Given the description of an element on the screen output the (x, y) to click on. 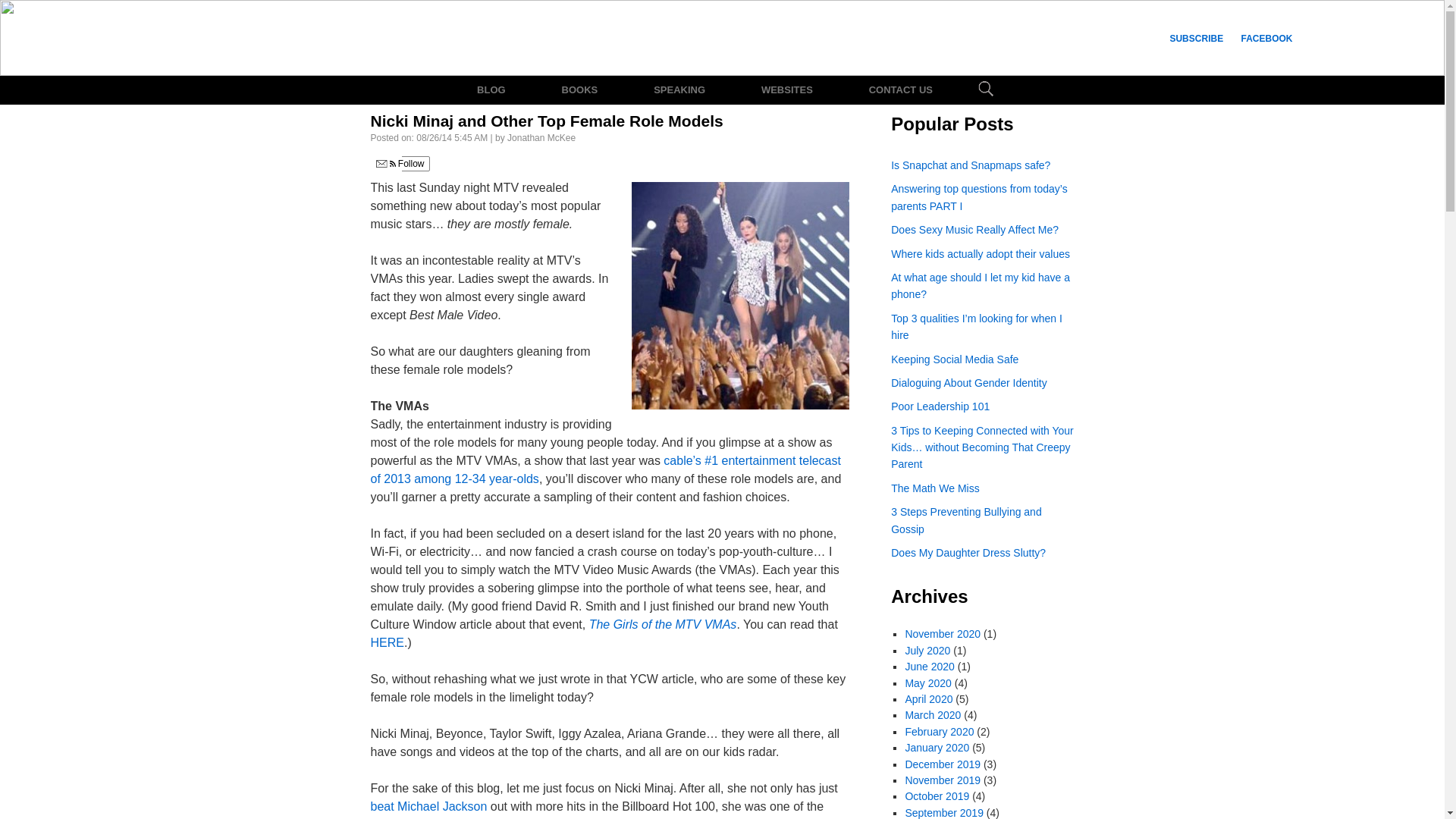
BLOG (490, 90)
beat Michael Jackson (427, 806)
HERE (386, 642)
Email, RSS (385, 164)
BOOKS (580, 90)
WEBSITES (786, 90)
The Girls of the MTV VMAs (662, 624)
CONTACT US (900, 90)
SUBSCRIBE (1195, 38)
Follow (399, 163)
